Given the description of an element on the screen output the (x, y) to click on. 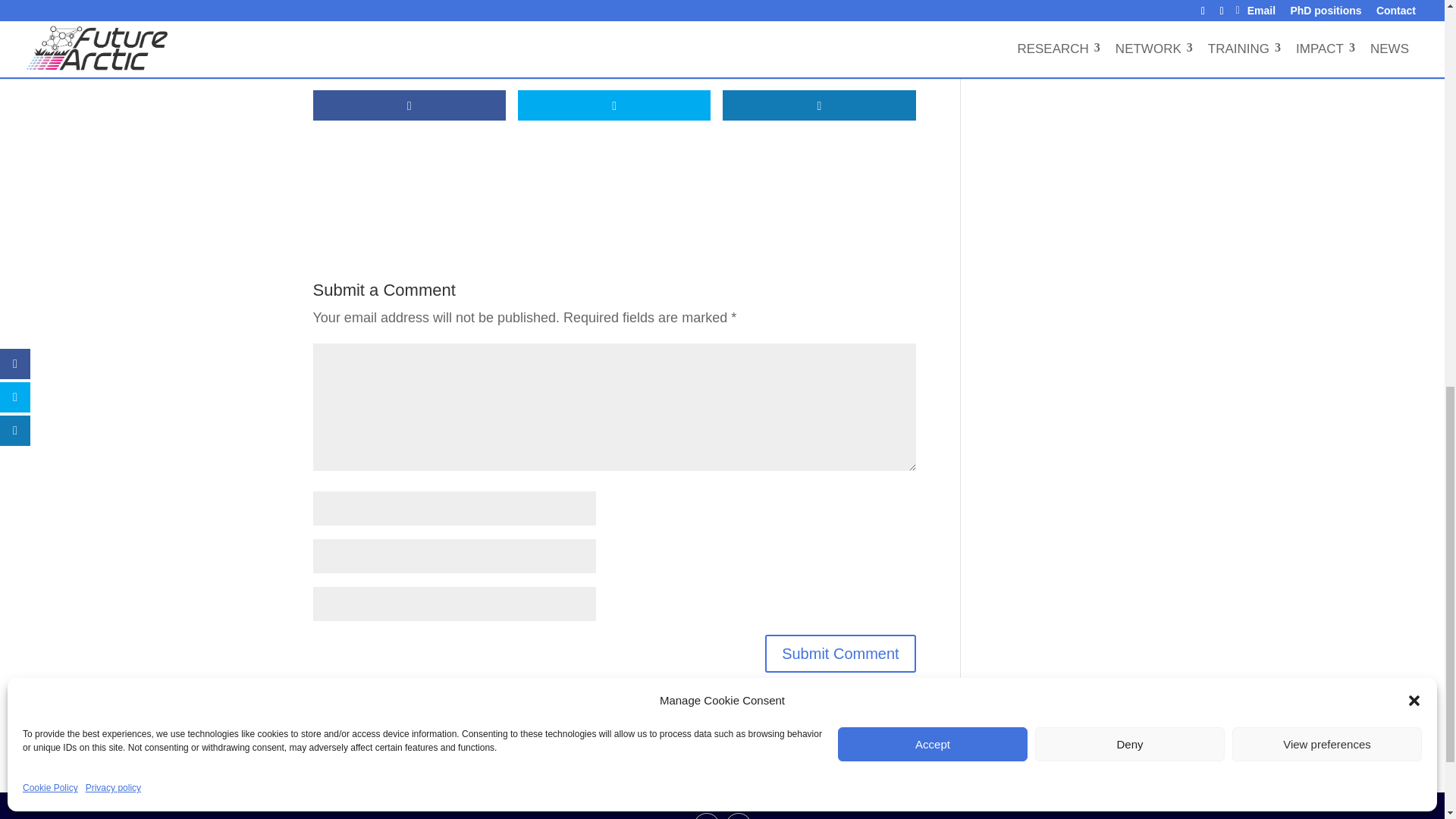
Follow on X (706, 816)
Submit Comment (840, 653)
Follow on LinkedIn (738, 816)
